Given the description of an element on the screen output the (x, y) to click on. 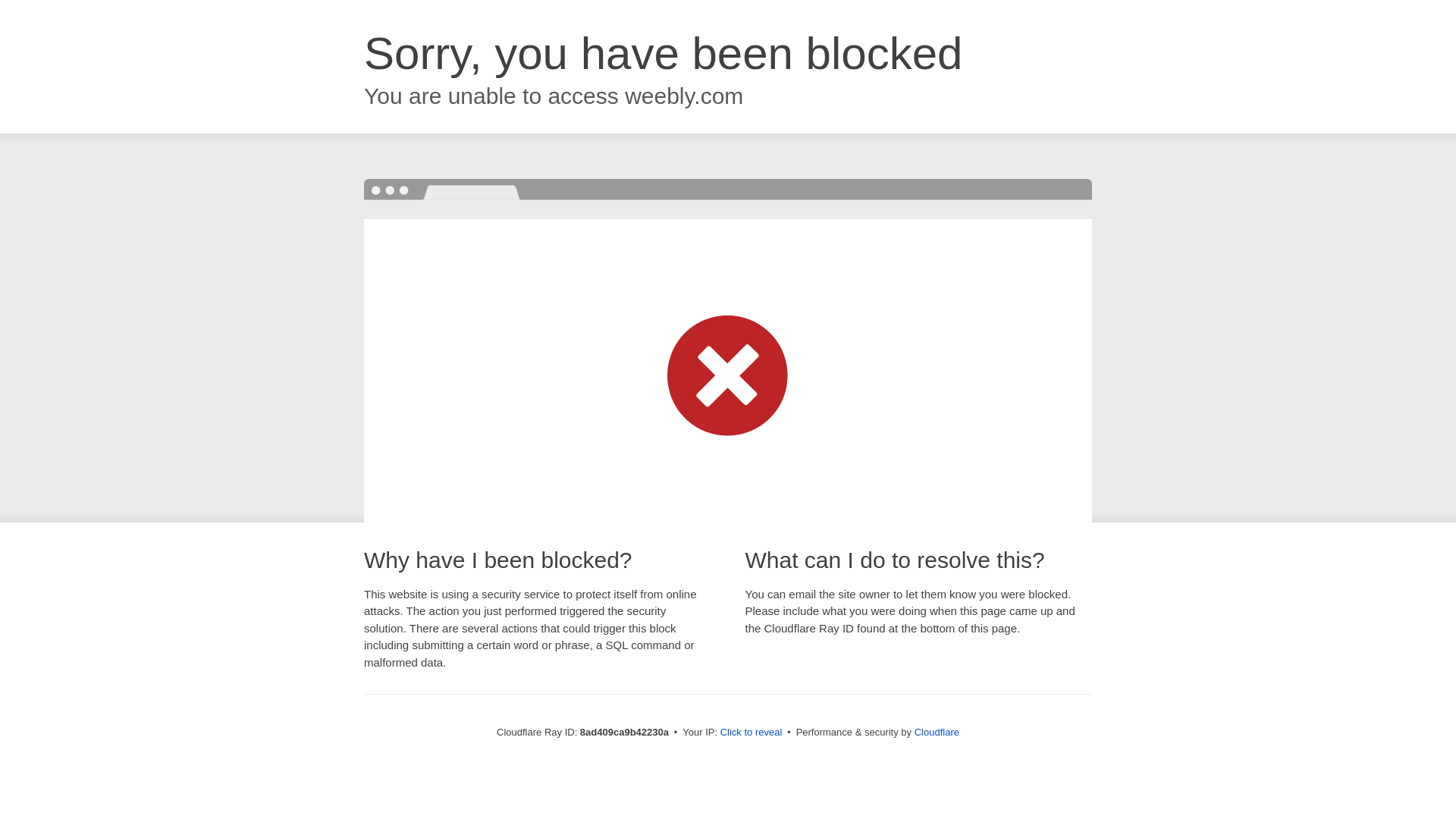
Cloudflare (936, 731)
Click to reveal (751, 732)
